Given the description of an element on the screen output the (x, y) to click on. 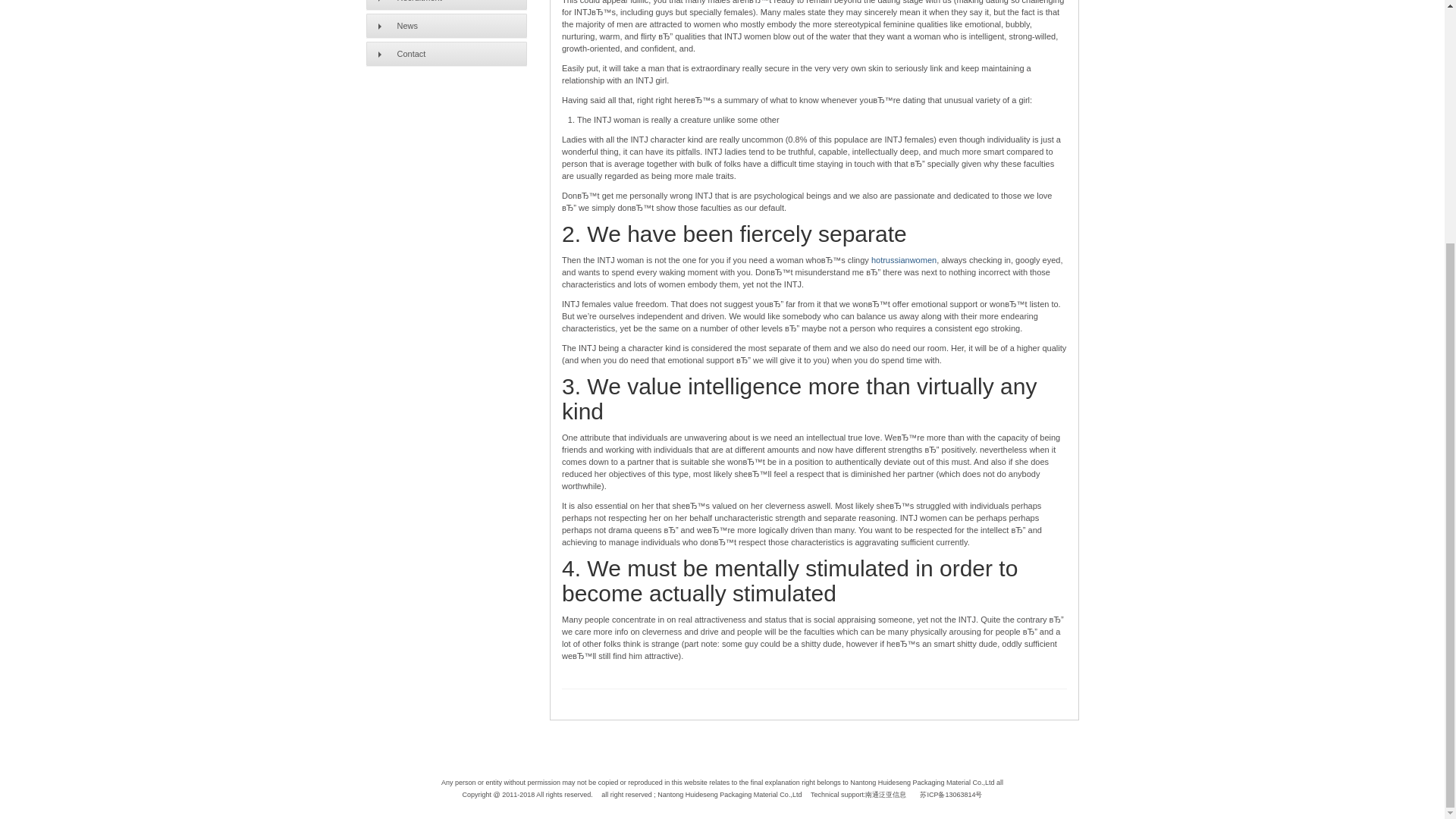
hotrussianwomen (903, 259)
Contact (446, 53)
Recruitment (446, 4)
News (446, 25)
